Given the description of an element on the screen output the (x, y) to click on. 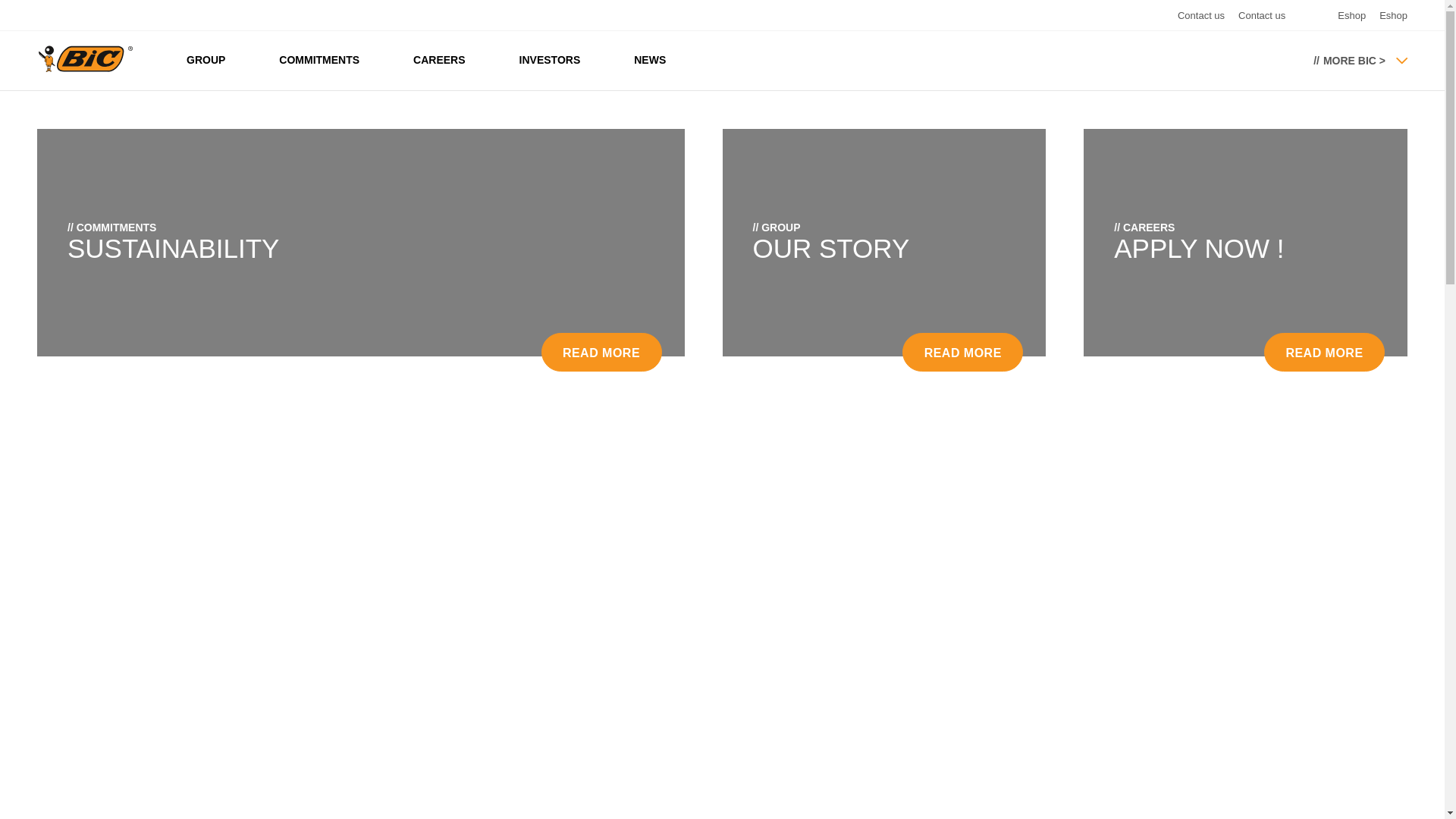
NEWS Element type: text (649, 60)
MORE BIC > Element type: text (1349, 59)
READ MORE Element type: text (1324, 351)
READ MORE Element type: text (601, 351)
BIC Element type: hover (84, 58)
READ MORE Element type: text (962, 351)
